Given the description of an element on the screen output the (x, y) to click on. 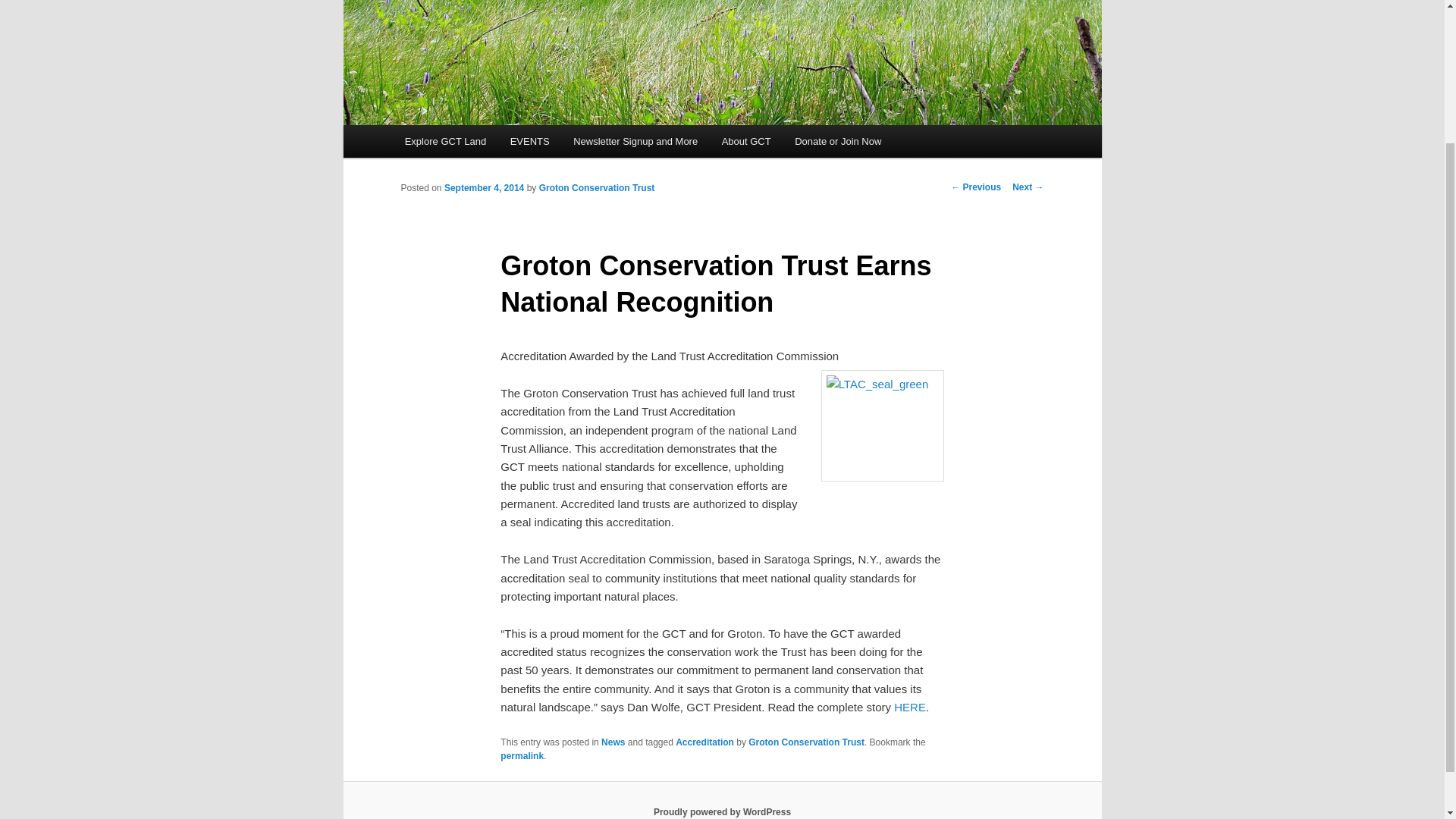
About GCT (746, 141)
View all posts by Groton Conservation Trust (596, 187)
EVENTS (529, 141)
Groton Conservation Trust (596, 187)
Semantic Personal Publishing Platform (721, 811)
Proudly powered by WordPress (721, 811)
Groton Conservation Trust (806, 742)
HERE (909, 707)
Accreditation (704, 742)
11:32 am (484, 187)
September 4, 2014 (484, 187)
Explore GCT Land (445, 141)
Newsletter Signup and More (635, 141)
Donate or Join Now (838, 141)
